Given the description of an element on the screen output the (x, y) to click on. 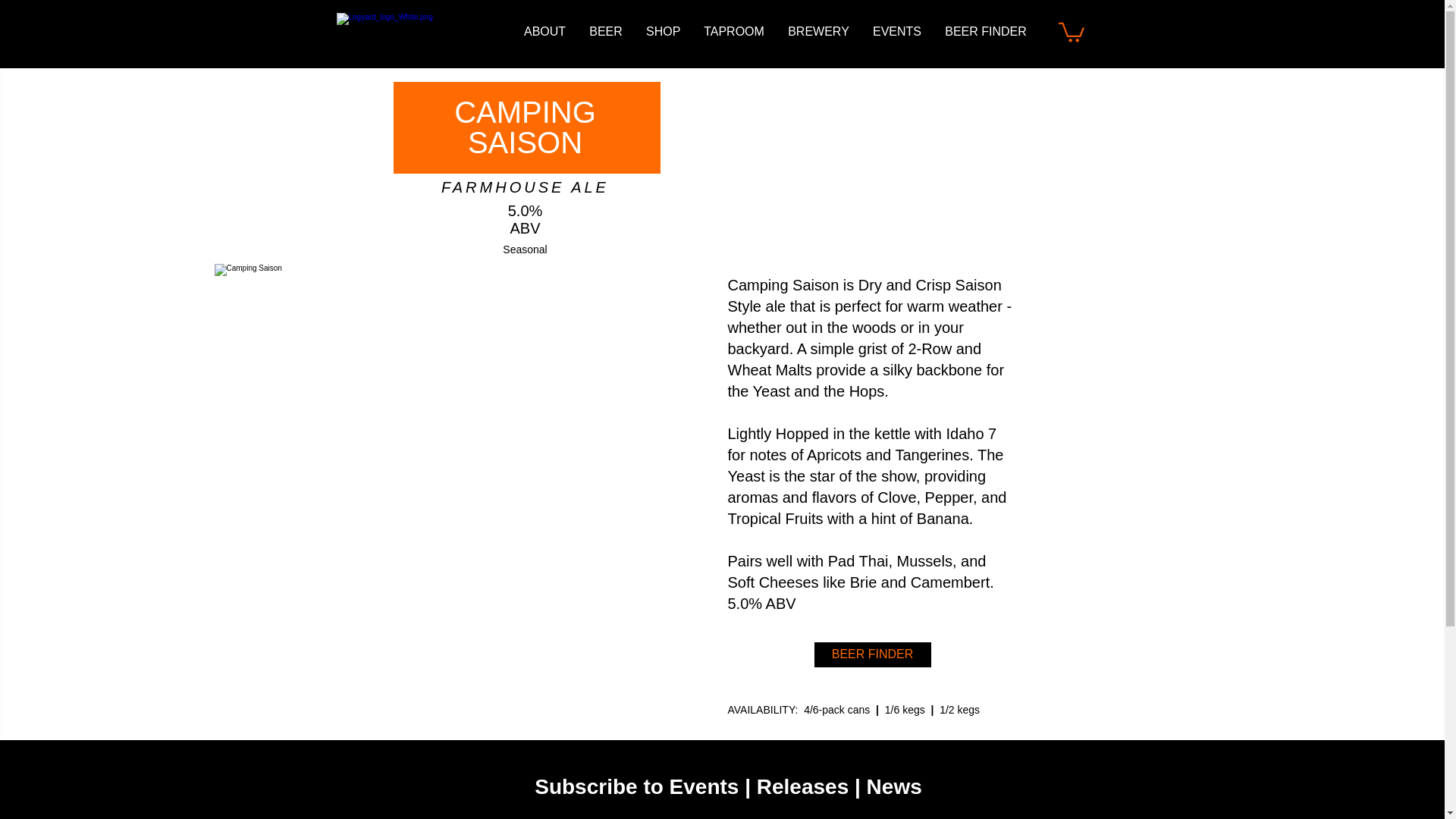
BREWERY (818, 31)
BEER (605, 31)
EVENTS (897, 31)
ABOUT (544, 31)
BEER FINDER (872, 654)
BEER FINDER (985, 31)
TAPROOM (734, 31)
SHOP (662, 31)
